Given the description of an element on the screen output the (x, y) to click on. 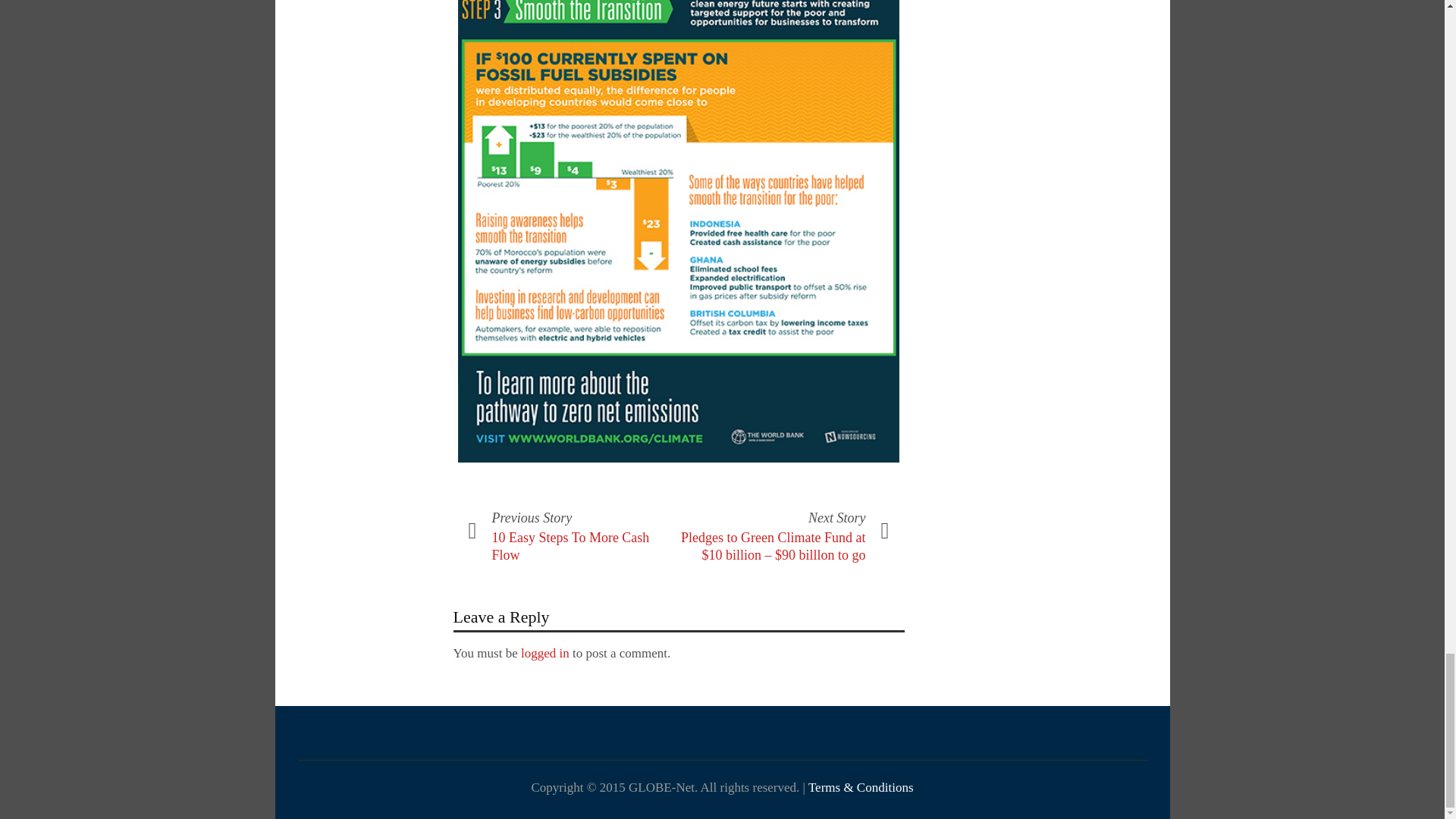
10 Easy Steps To More Cash Flow (570, 545)
logged in (545, 653)
